Given the description of an element on the screen output the (x, y) to click on. 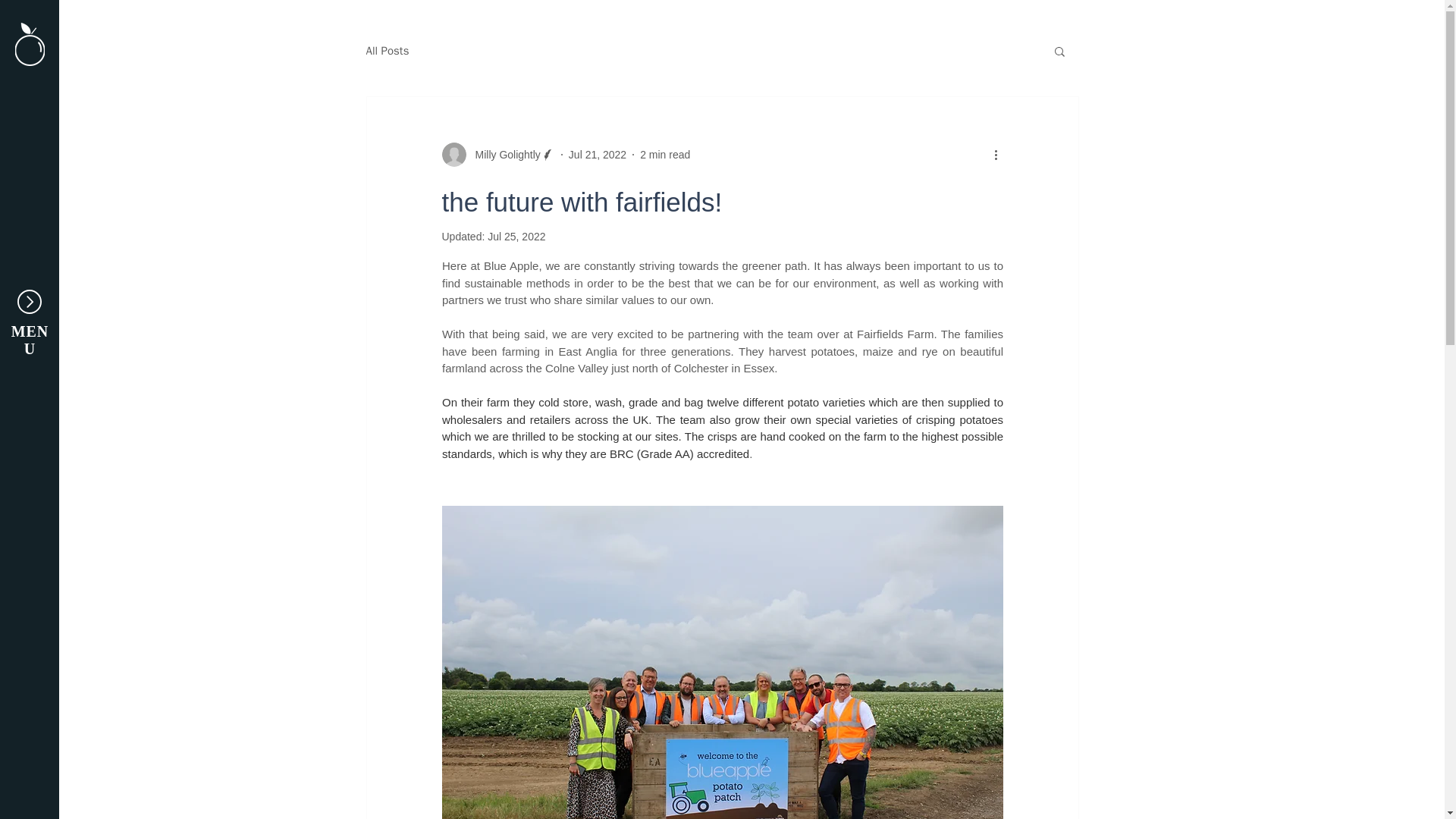
Milly Golightly (502, 154)
Jul 25, 2022 (515, 236)
All Posts (387, 51)
MENU (30, 339)
Jul 21, 2022 (597, 154)
2 min read (665, 154)
Milly Golightly (497, 154)
